Given the description of an element on the screen output the (x, y) to click on. 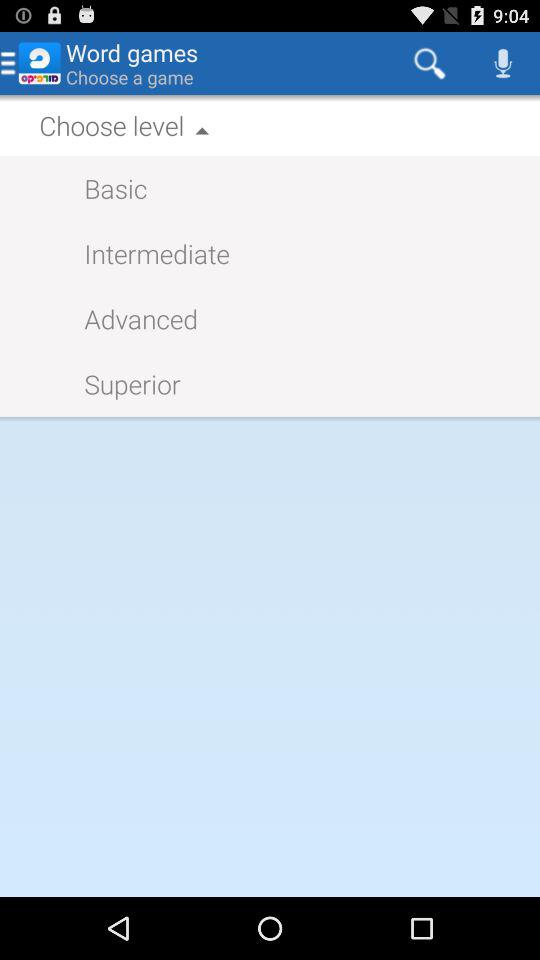
turn off item below the advanced app (122, 383)
